Given the description of an element on the screen output the (x, y) to click on. 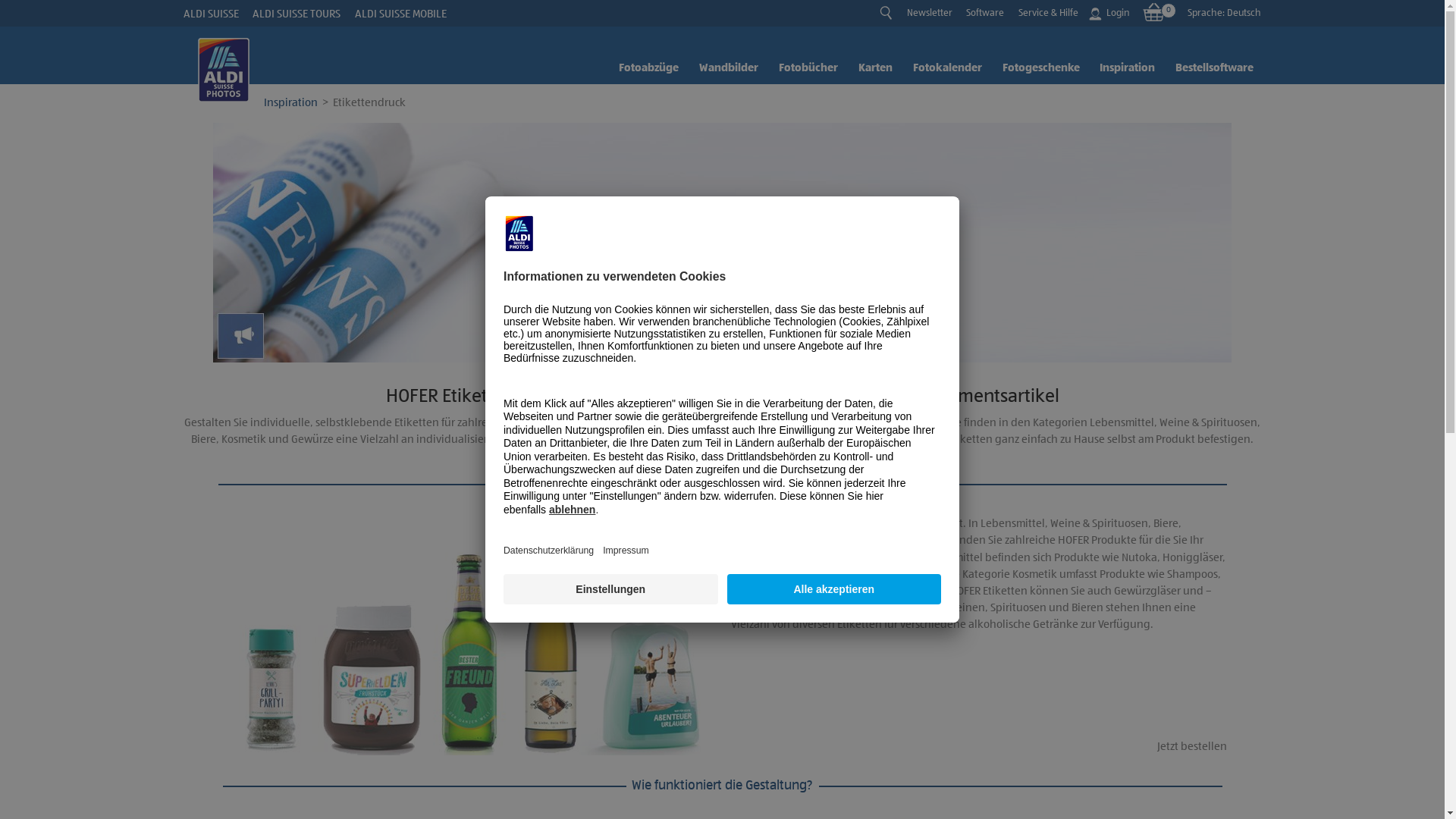
Fotogeschenke Element type: text (1037, 69)
Service & Hilfe Element type: text (1047, 13)
News & Infos Element type: hover (722, 242)
Sprache: Deutsch Element type: text (1223, 13)
Bestellsoftware Element type: text (1212, 69)
Wandbilder Element type: text (726, 69)
ALDI SUISSE Element type: text (209, 14)
Bei HOFER KREATIV erstellen Sie ein eigenes Etikett Element type: hover (473, 635)
ALDI SUISSE TOURS Element type: text (296, 14)
Inspiration Element type: text (1124, 69)
ALDI SUISSE MOBILE Element type: text (399, 14)
Login Element type: text (1110, 13)
Newsletter Element type: text (929, 13)
Fotokalender Element type: text (944, 69)
Suche Element type: hover (885, 11)
Software Element type: text (984, 13)
Inspiration Element type: text (290, 102)
Karten Element type: text (872, 69)
